Given the description of an element on the screen output the (x, y) to click on. 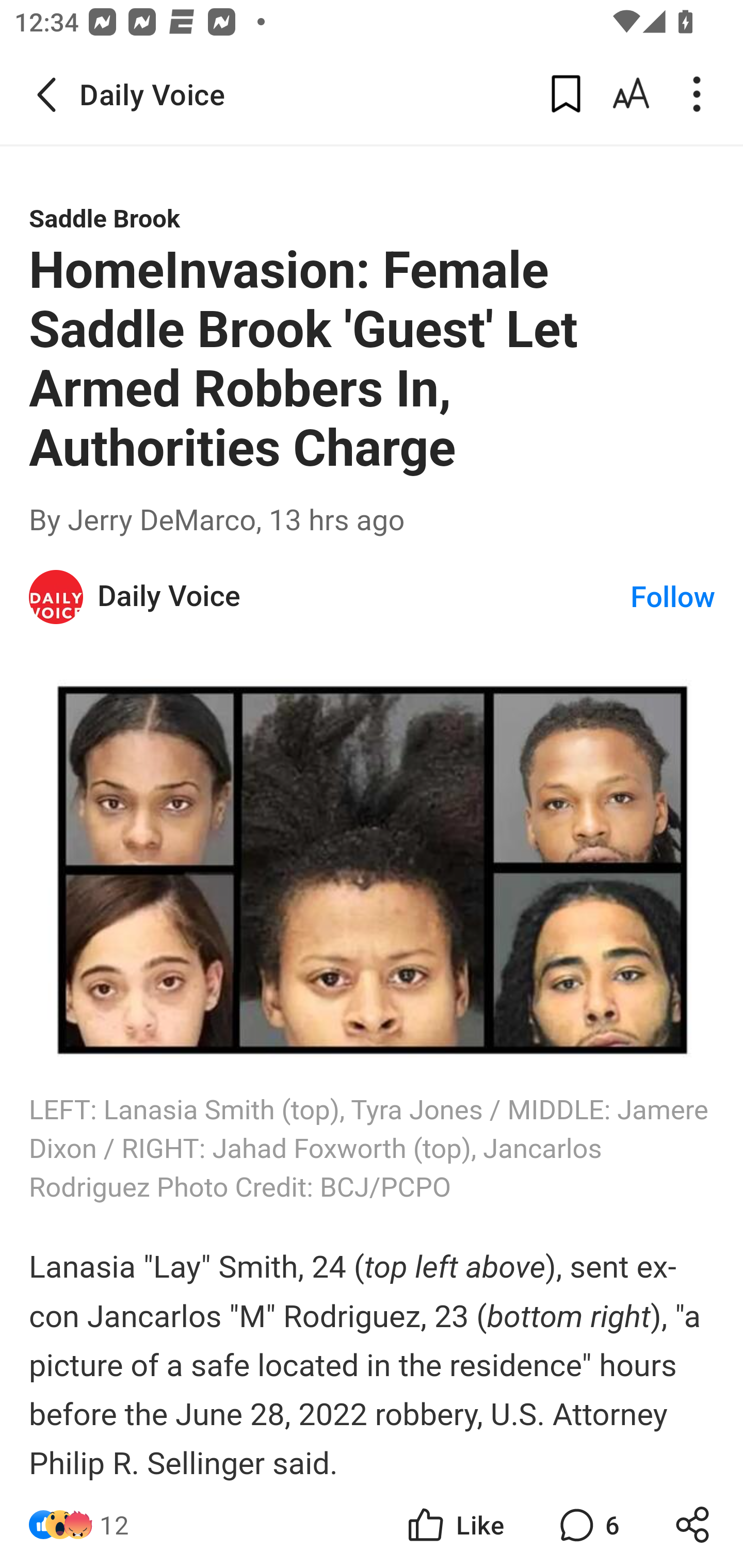
Daily (56, 596)
Daily Voice (364, 596)
Follow (673, 598)
12 (114, 1524)
Like (454, 1524)
6 (587, 1524)
